Given the description of an element on the screen output the (x, y) to click on. 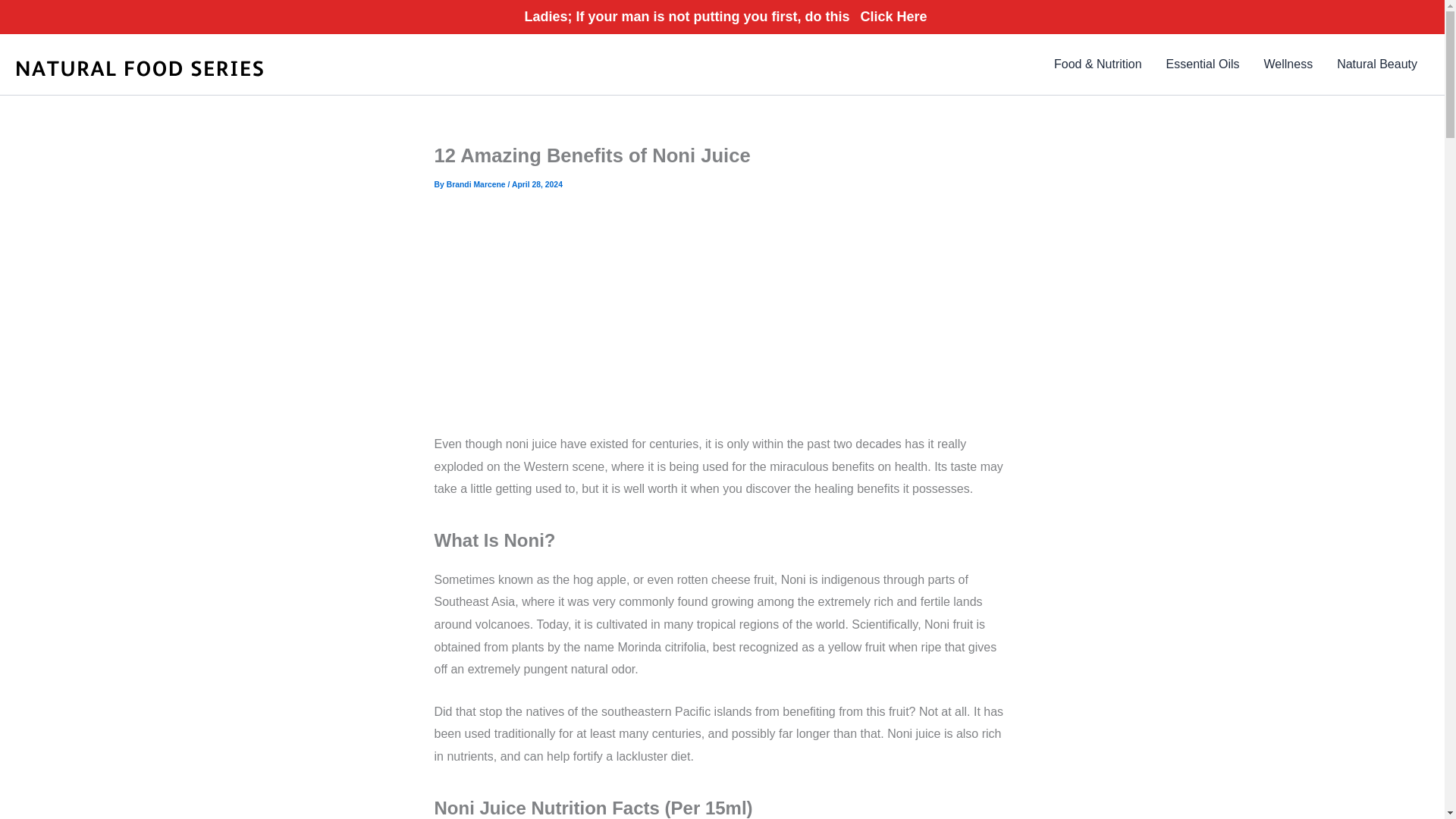
Essential Oils (1203, 64)
Brandi Marcene (477, 184)
Advertisement (721, 320)
Natural Beauty (1376, 64)
Wellness (1288, 64)
View all posts by Brandi Marcene (477, 184)
